Given the description of an element on the screen output the (x, y) to click on. 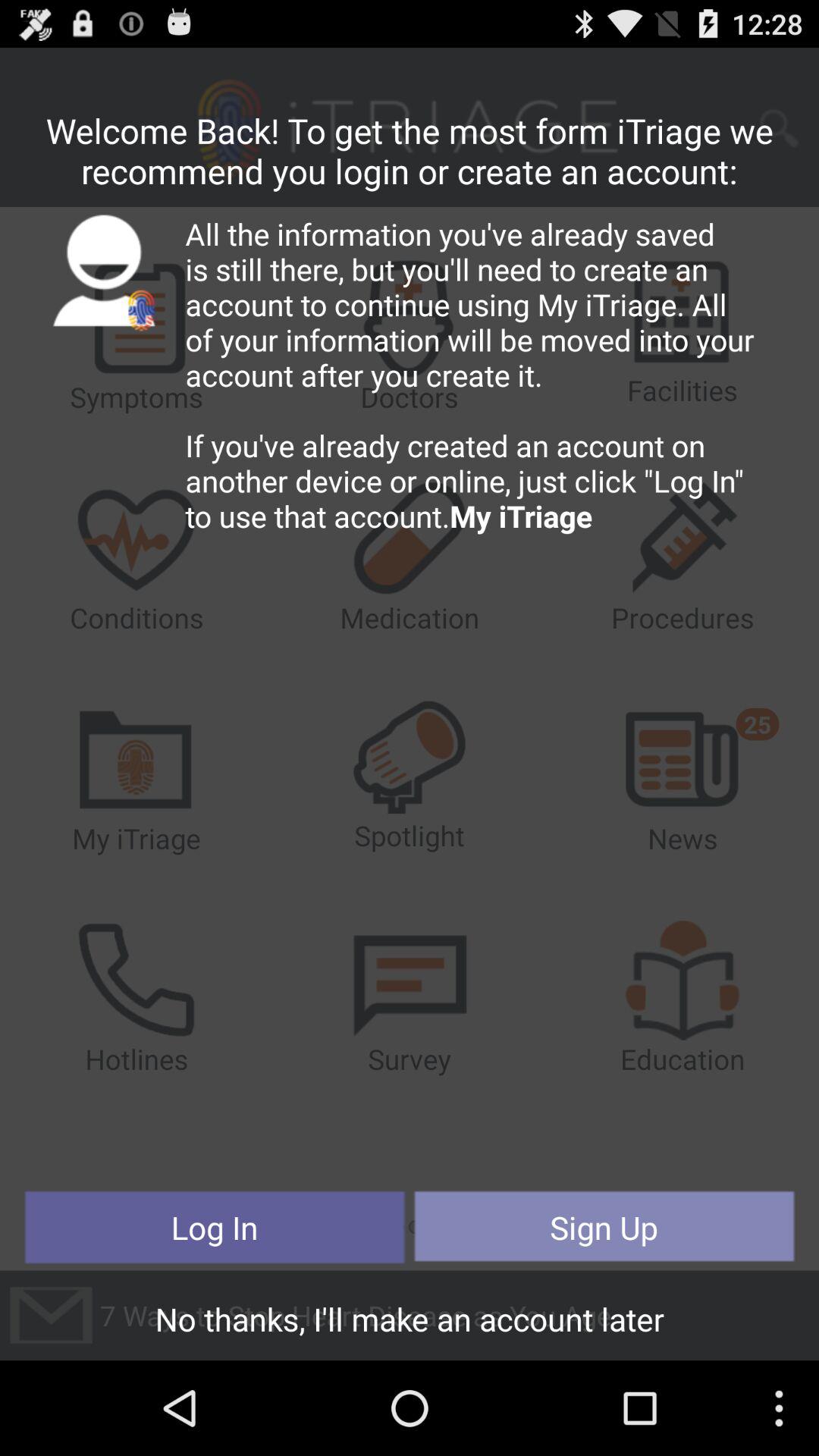
turn off item to the left of the sign up icon (214, 1227)
